Given the description of an element on the screen output the (x, y) to click on. 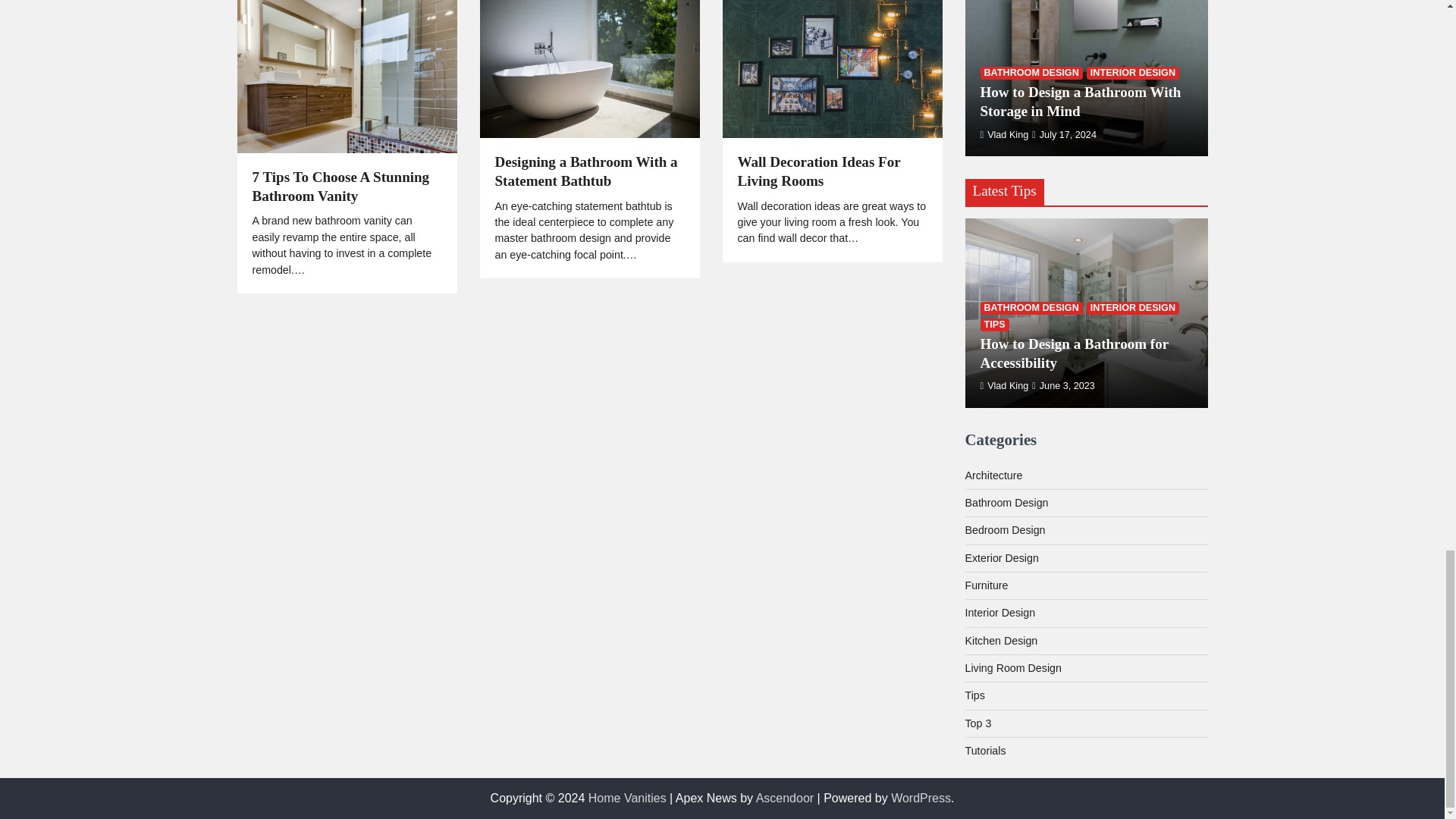
Designing a Bathroom With a Statement Bathtub (589, 171)
7 Tips To Choose A Stunning Bathroom Vanity (346, 187)
Wall Decoration Ideas For Living Rooms (831, 171)
